Given the description of an element on the screen output the (x, y) to click on. 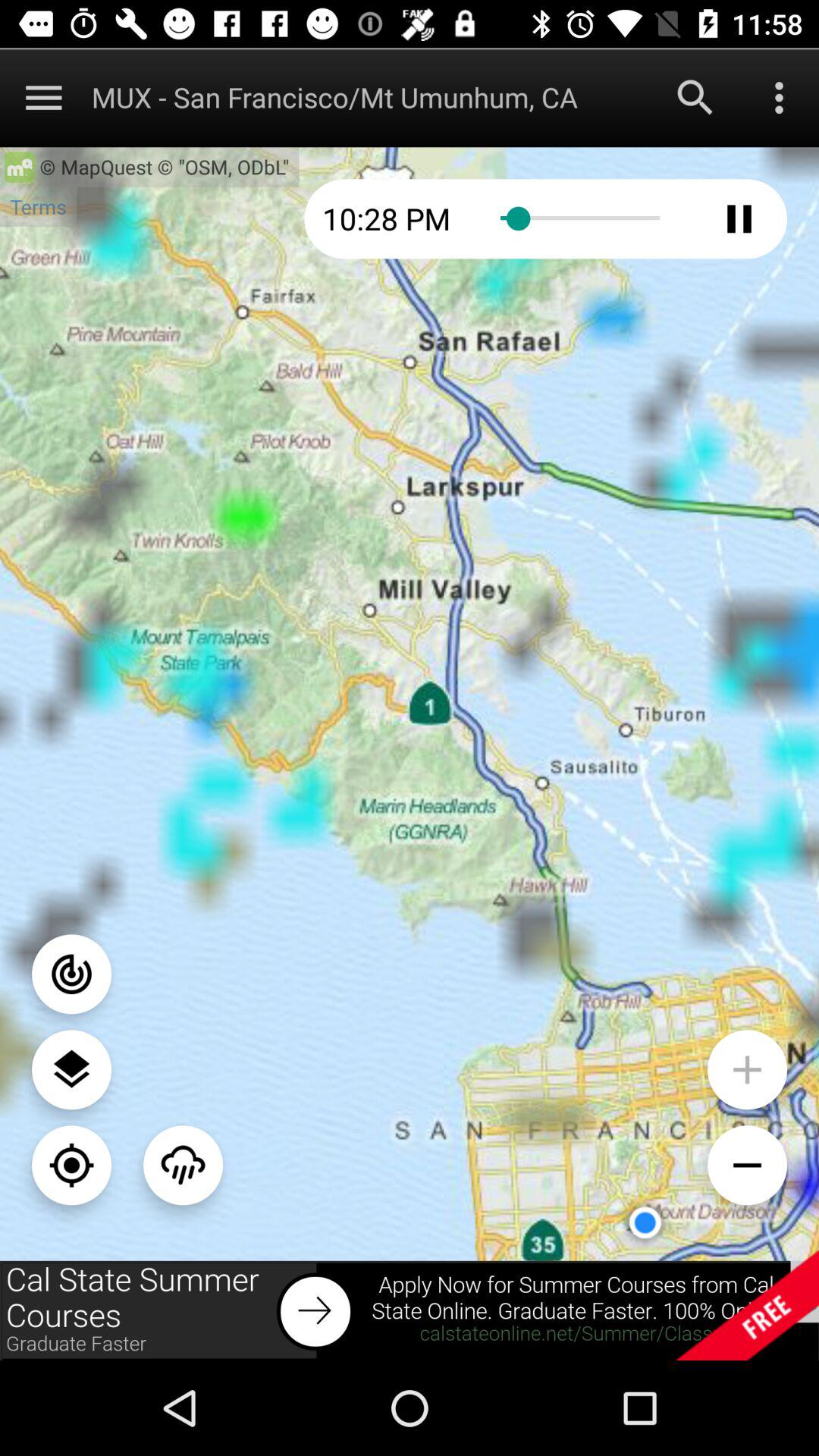
pause button (739, 218)
